Given the description of an element on the screen output the (x, y) to click on. 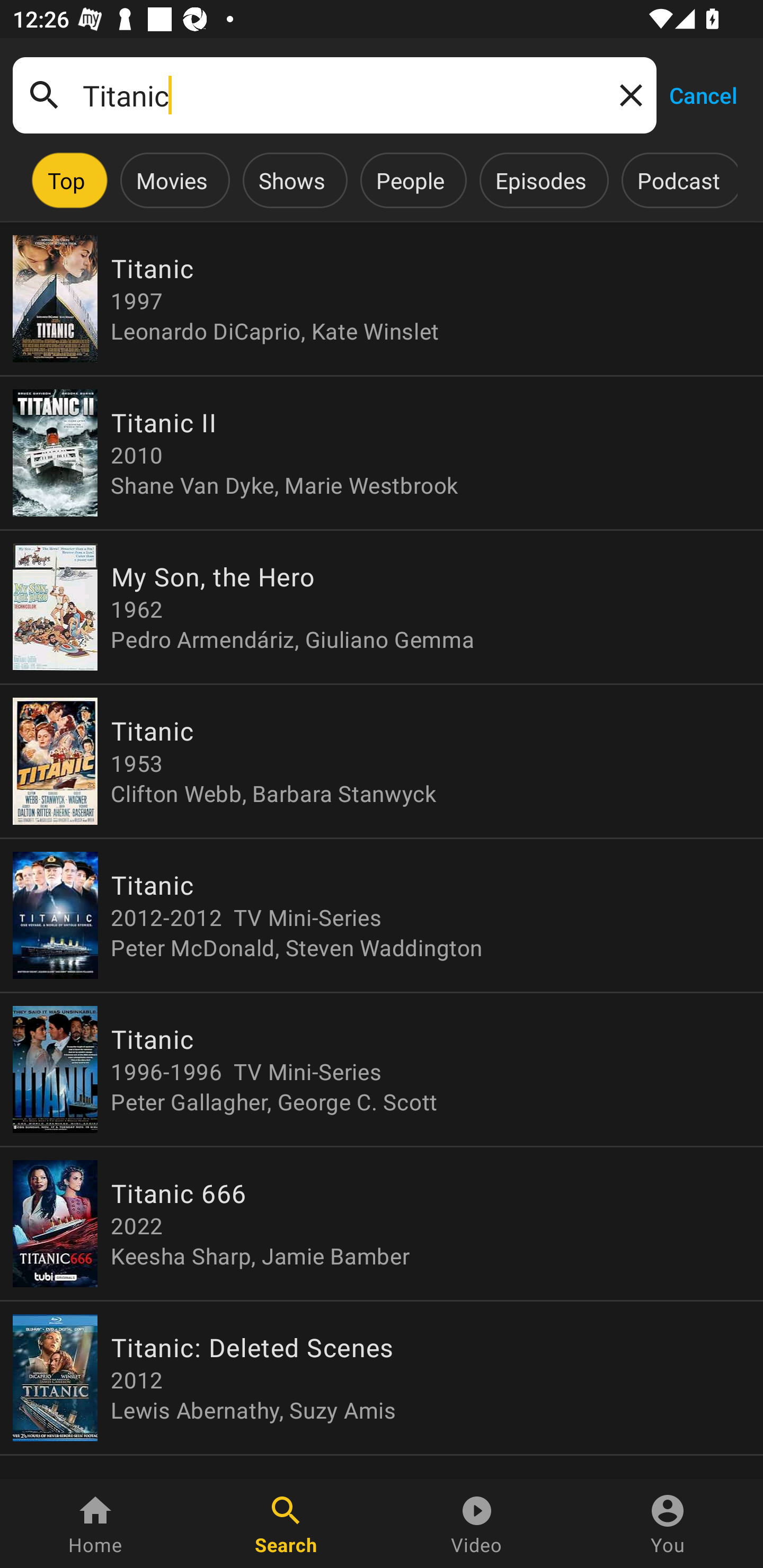
Clear query (627, 94)
Cancel (703, 94)
Titanic (334, 95)
Top (66, 180)
Movies (171, 180)
Shows (291, 180)
People (410, 180)
Episodes (540, 180)
Podcast (678, 180)
Titanic 1997 Leonardo DiCaprio, Kate Winslet (381, 298)
Titanic II 2010 Shane Van Dyke, Marie Westbrook (381, 452)
Titanic 1953 Clifton Webb, Barbara Stanwyck (381, 761)
Titanic 666 2022 Keesha Sharp, Jamie Bamber (381, 1223)
Home (95, 1523)
Video (476, 1523)
You (667, 1523)
